Given the description of an element on the screen output the (x, y) to click on. 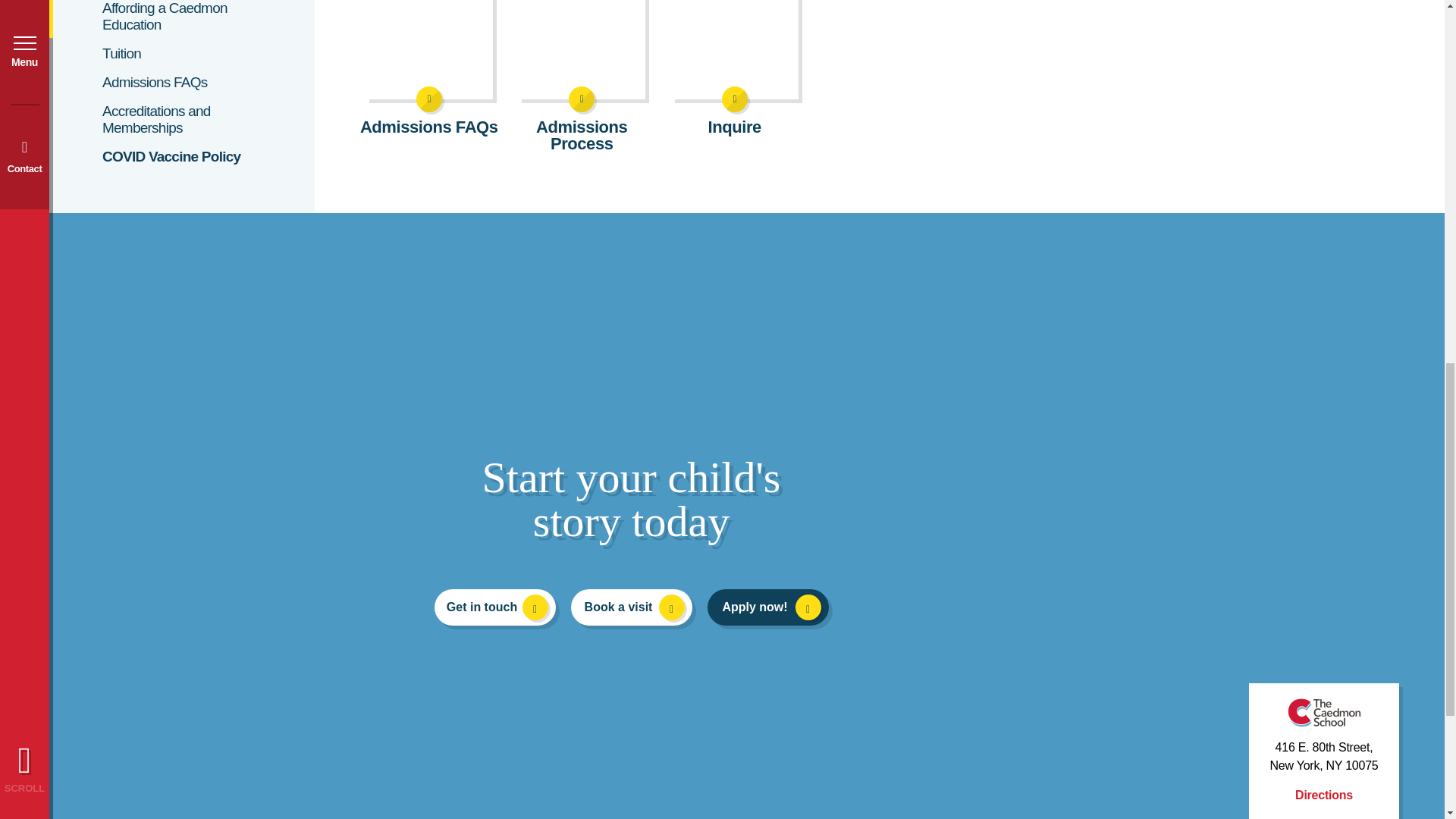
Admissions Process (581, 76)
Directions (1323, 794)
Apply now! (767, 606)
Get in touch (493, 606)
Inquire (734, 67)
Book a visit (630, 606)
Admissions FAQs (428, 67)
